Given the description of an element on the screen output the (x, y) to click on. 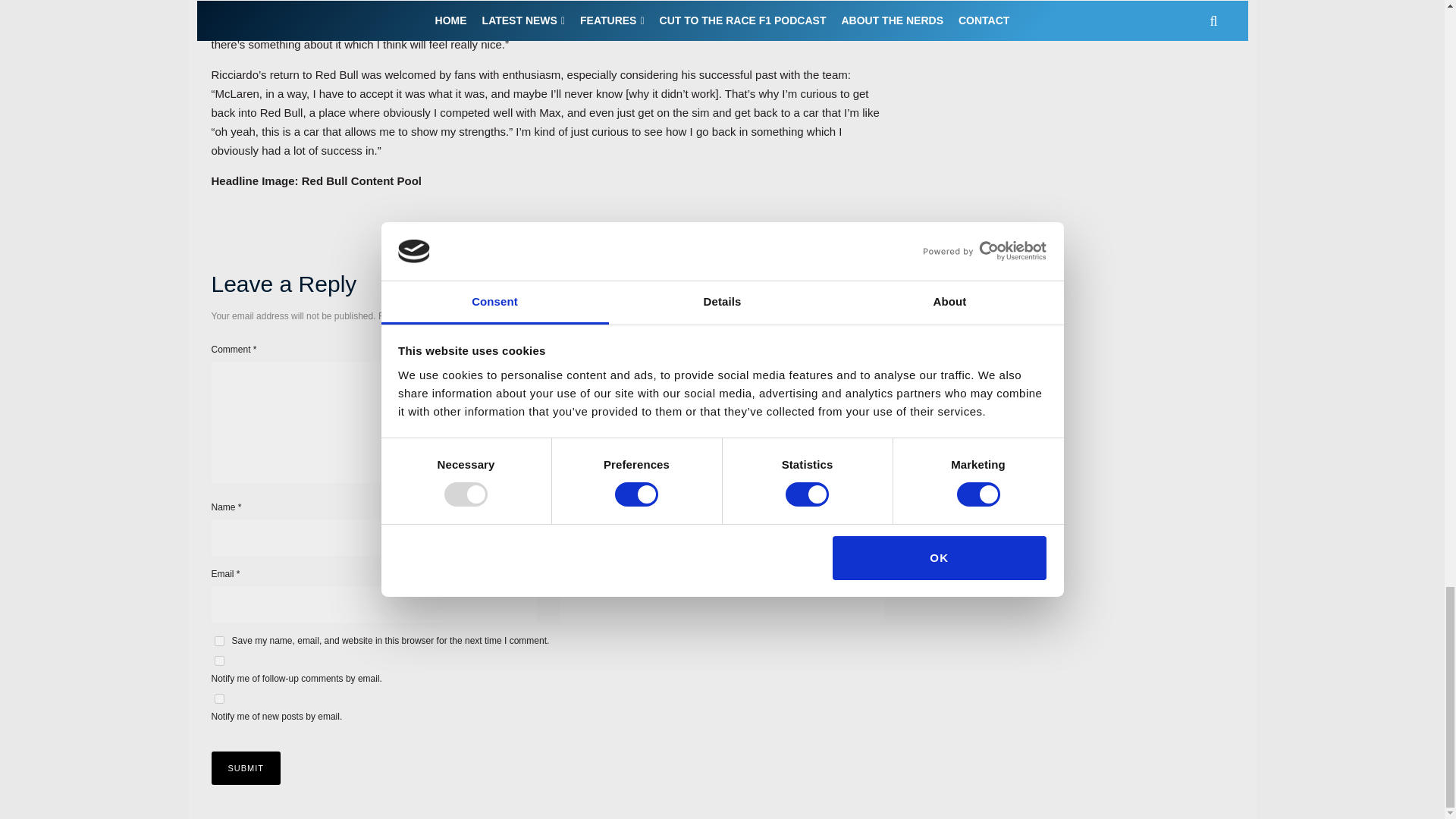
subscribe (219, 660)
Submit (246, 767)
yes (219, 641)
subscribe (219, 698)
